Given the description of an element on the screen output the (x, y) to click on. 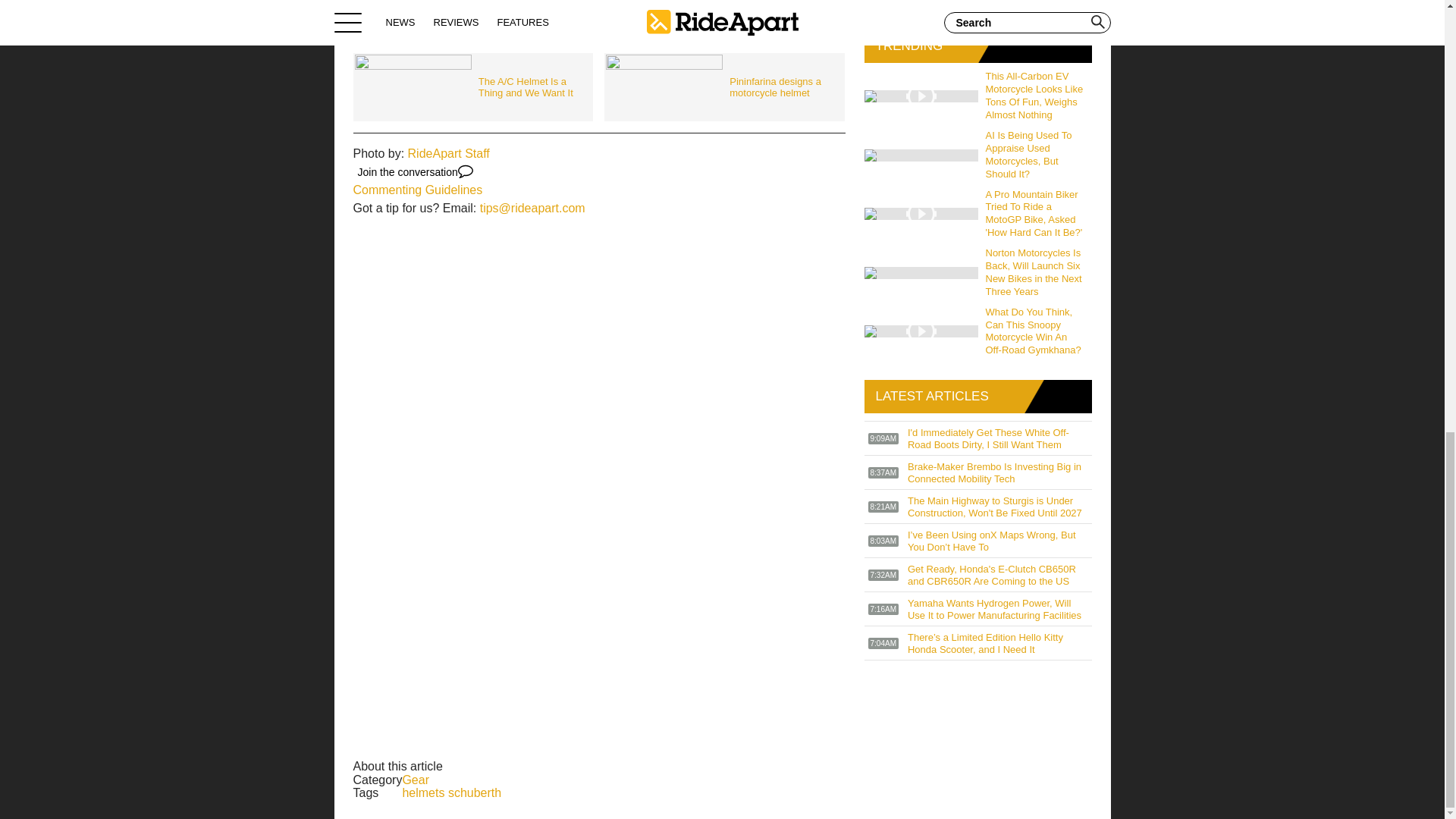
Pininfarina designs a motorcycle helmet (724, 87)
RideApart Staff (448, 153)
